Given the description of an element on the screen output the (x, y) to click on. 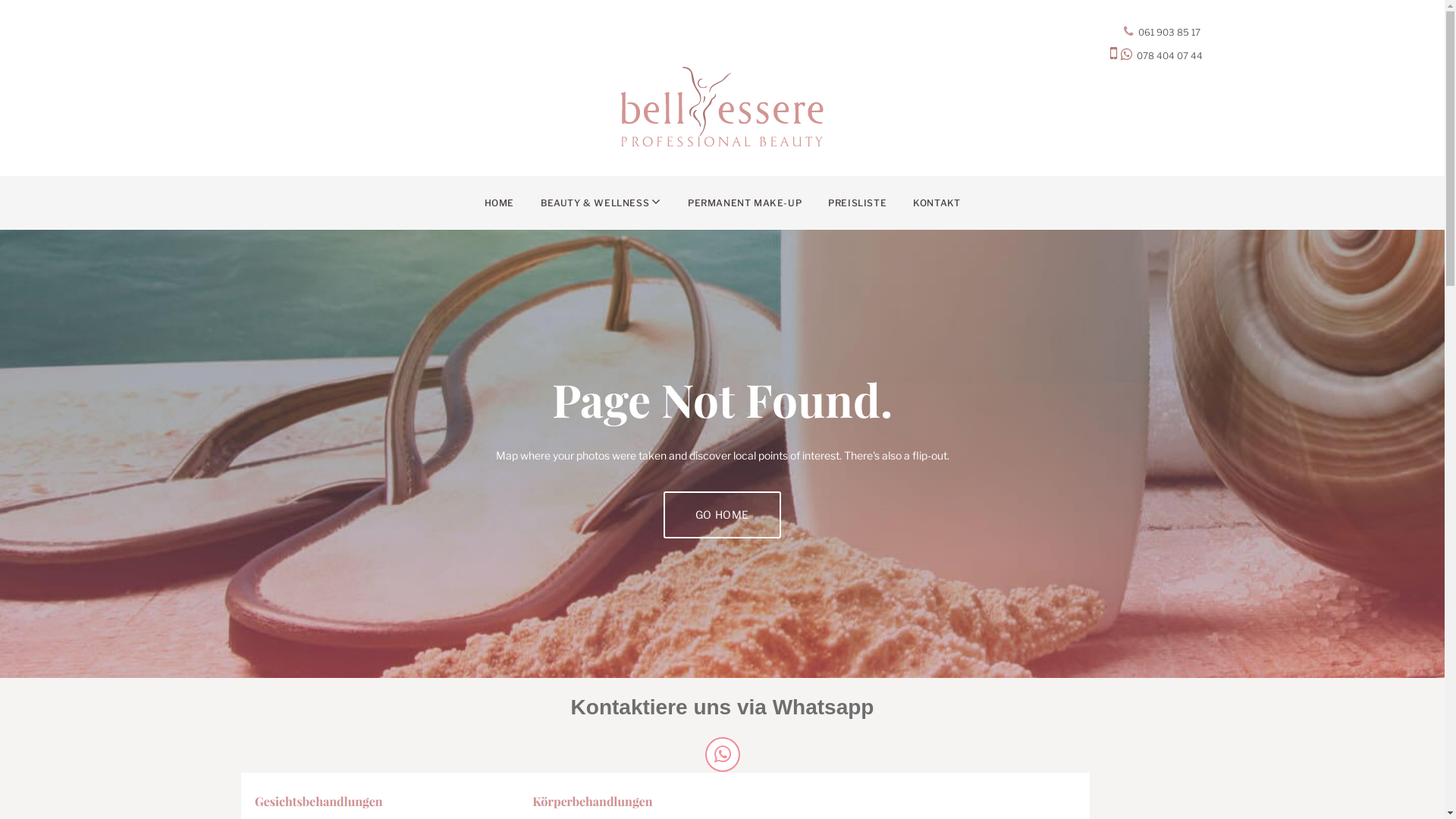
GO HOME Element type: text (722, 514)
KONTAKT Element type: text (936, 202)
BEAUTY & WELLNESS Element type: text (600, 202)
HOME Element type: text (499, 202)
PERMANENT MAKE-UP Element type: text (744, 202)
  Element type: text (1201, 31)
PREISLISTE Element type: text (857, 202)
